Given the description of an element on the screen output the (x, y) to click on. 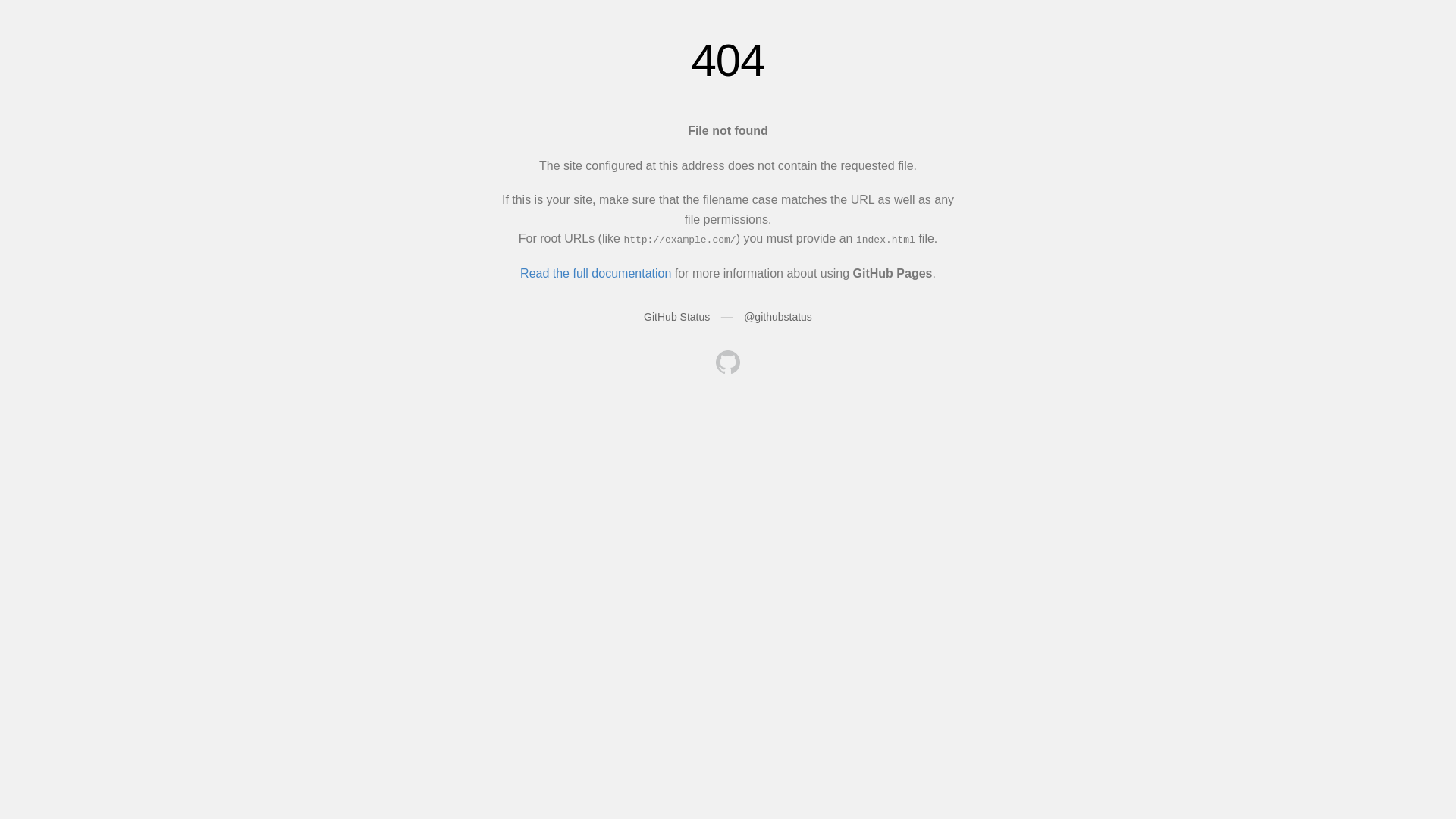
Read the full documentation Element type: text (595, 272)
@githubstatus Element type: text (777, 316)
GitHub Status Element type: text (676, 316)
